Given the description of an element on the screen output the (x, y) to click on. 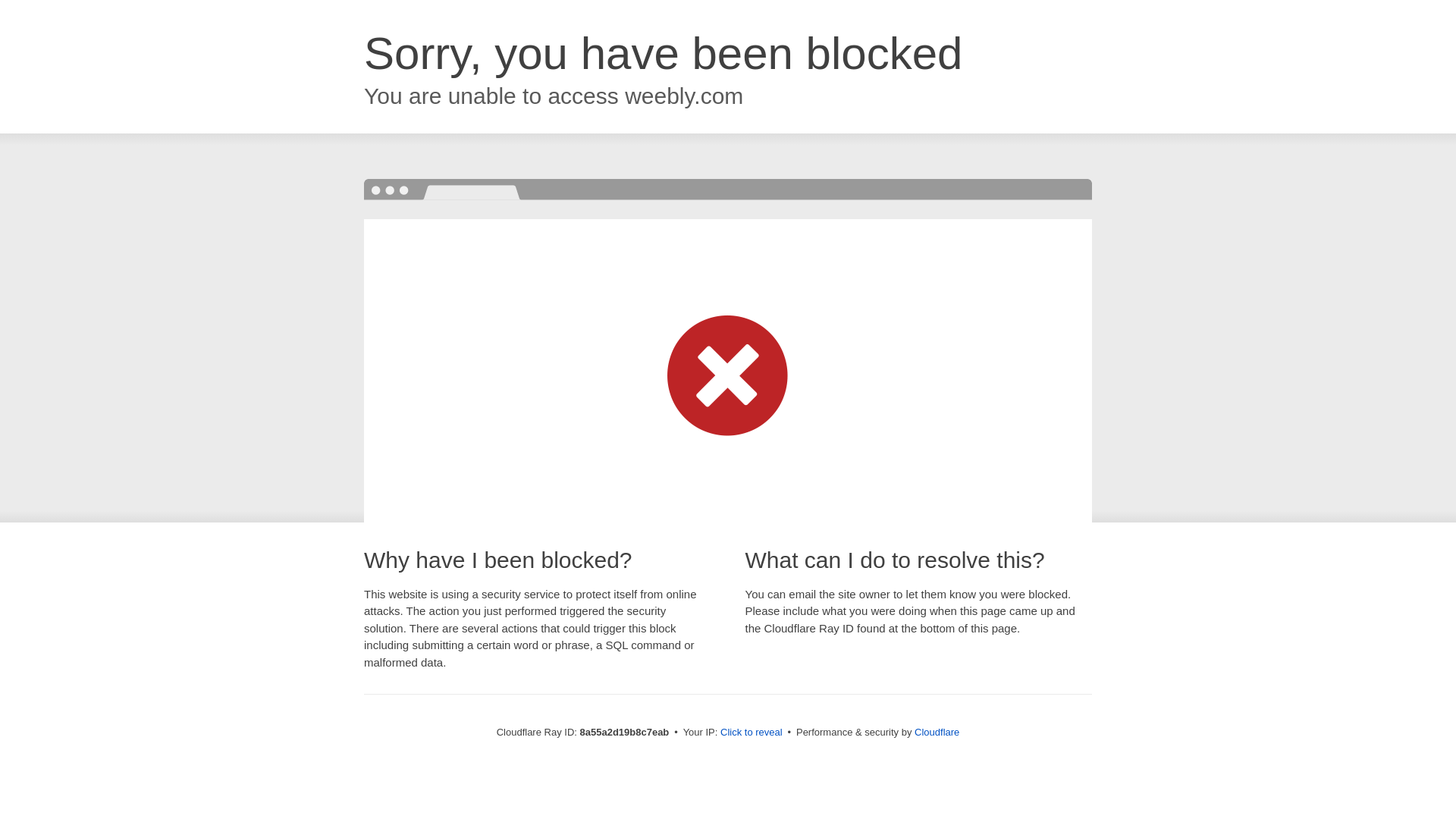
Cloudflare (936, 731)
Click to reveal (751, 732)
